Given the description of an element on the screen output the (x, y) to click on. 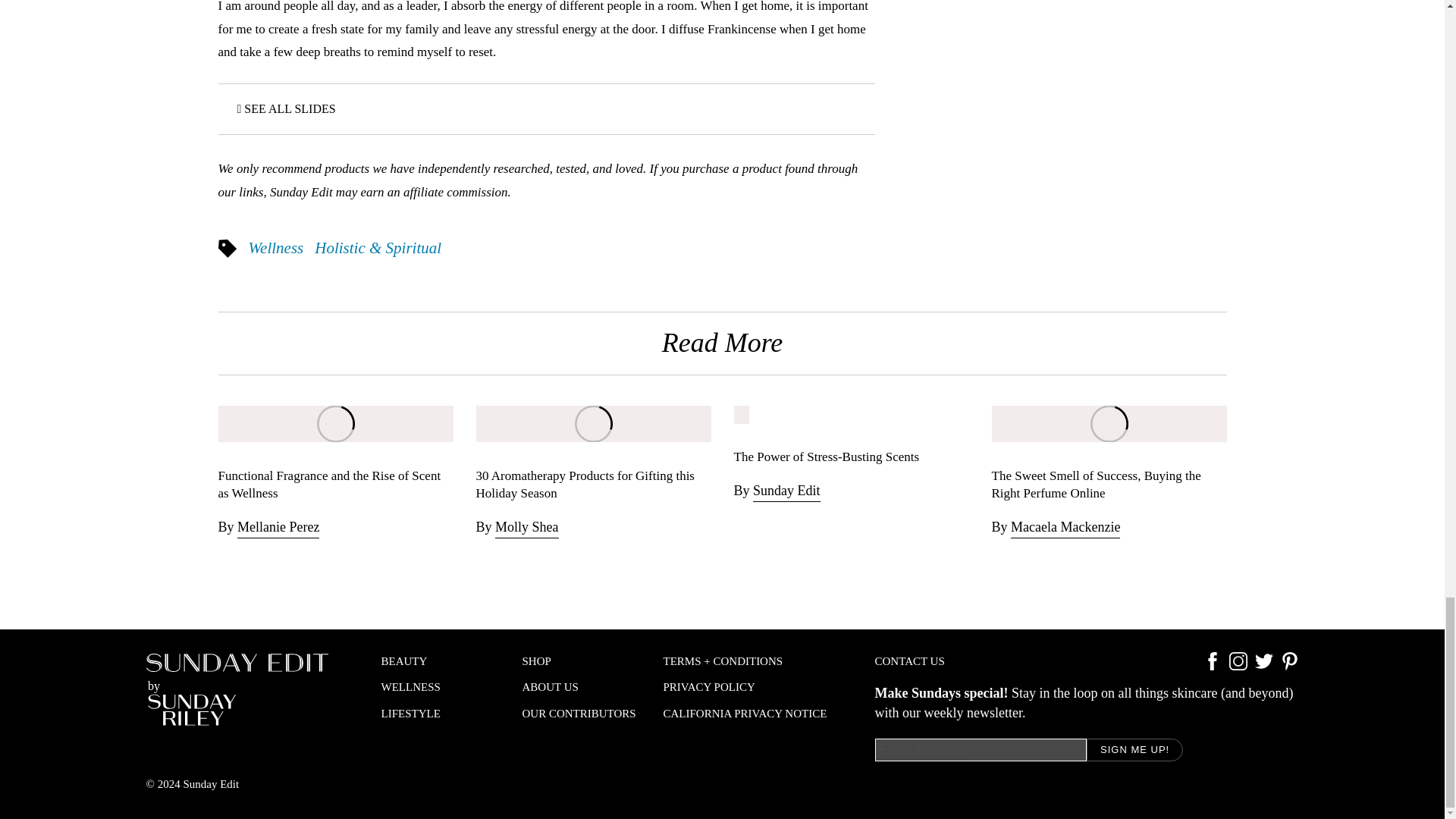
Pinterest (1288, 666)
Instagram (1237, 666)
Twitter (1262, 666)
Facebook (1212, 666)
by (236, 689)
